Given the description of an element on the screen output the (x, y) to click on. 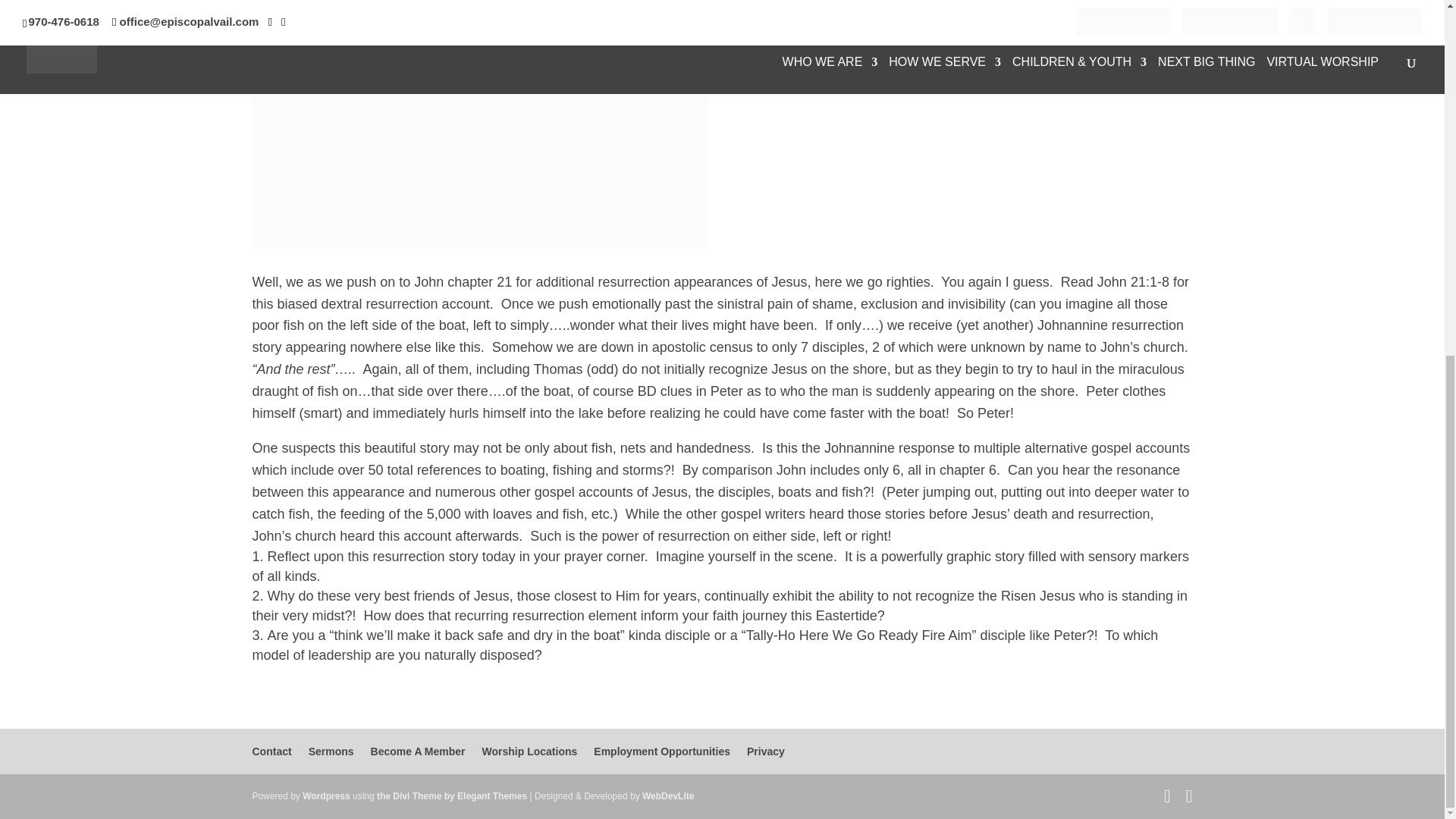
Lefthandsouthpaw (479, 124)
Wordpress (325, 796)
Webdevlite for quality website development (668, 796)
Contact (271, 751)
Employment Opportunities (662, 751)
elegant themes (452, 796)
Sermons (330, 751)
Worship Locations (529, 751)
Become A Member (418, 751)
